Given the description of an element on the screen output the (x, y) to click on. 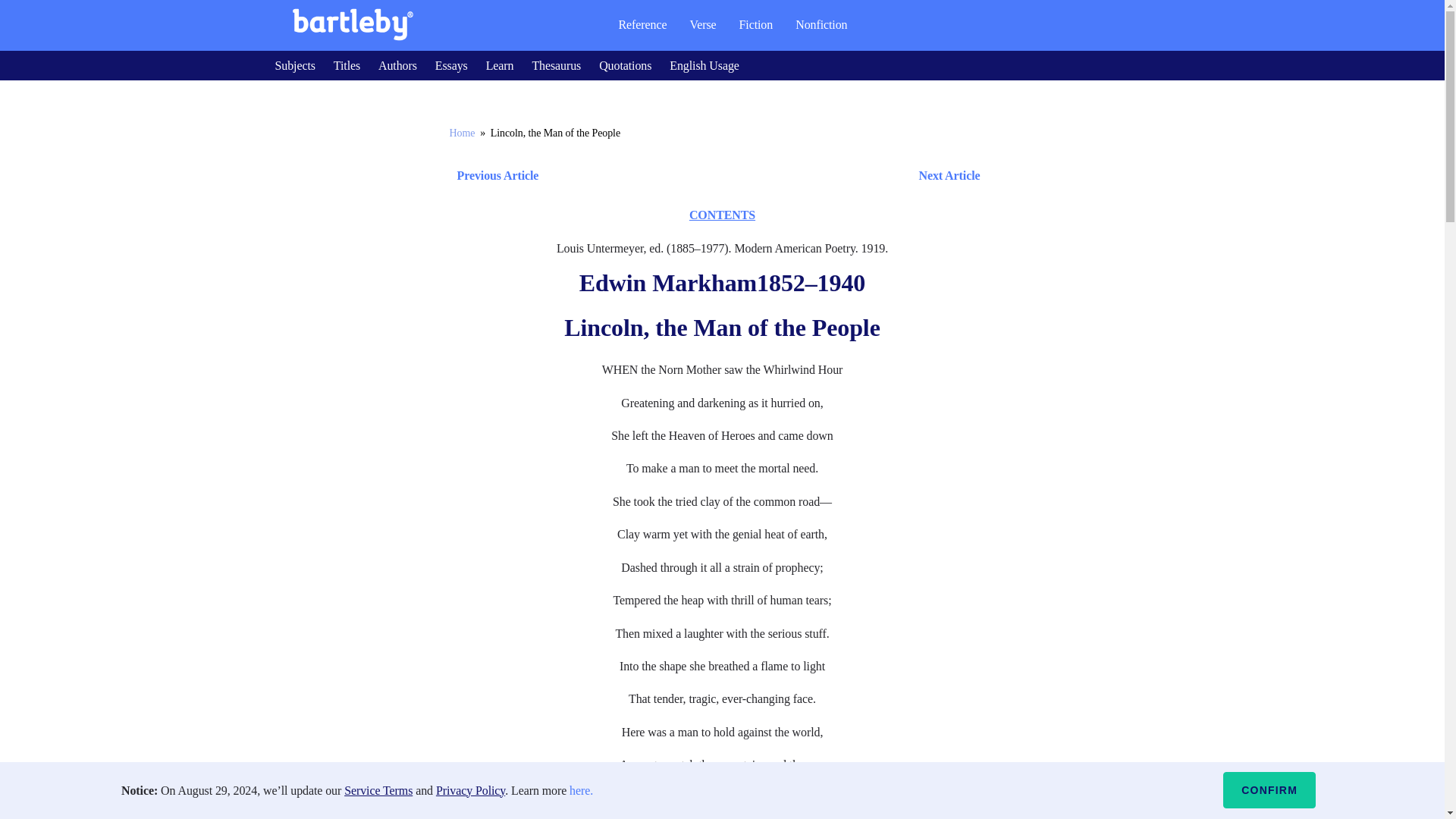
Fiction (756, 24)
Essays (451, 65)
Authors (397, 65)
Quotations (624, 65)
CONTENTS (721, 214)
Nonfiction (821, 24)
Learn (499, 65)
Home (461, 132)
English Usage (704, 65)
Verse (702, 24)
